Given the description of an element on the screen output the (x, y) to click on. 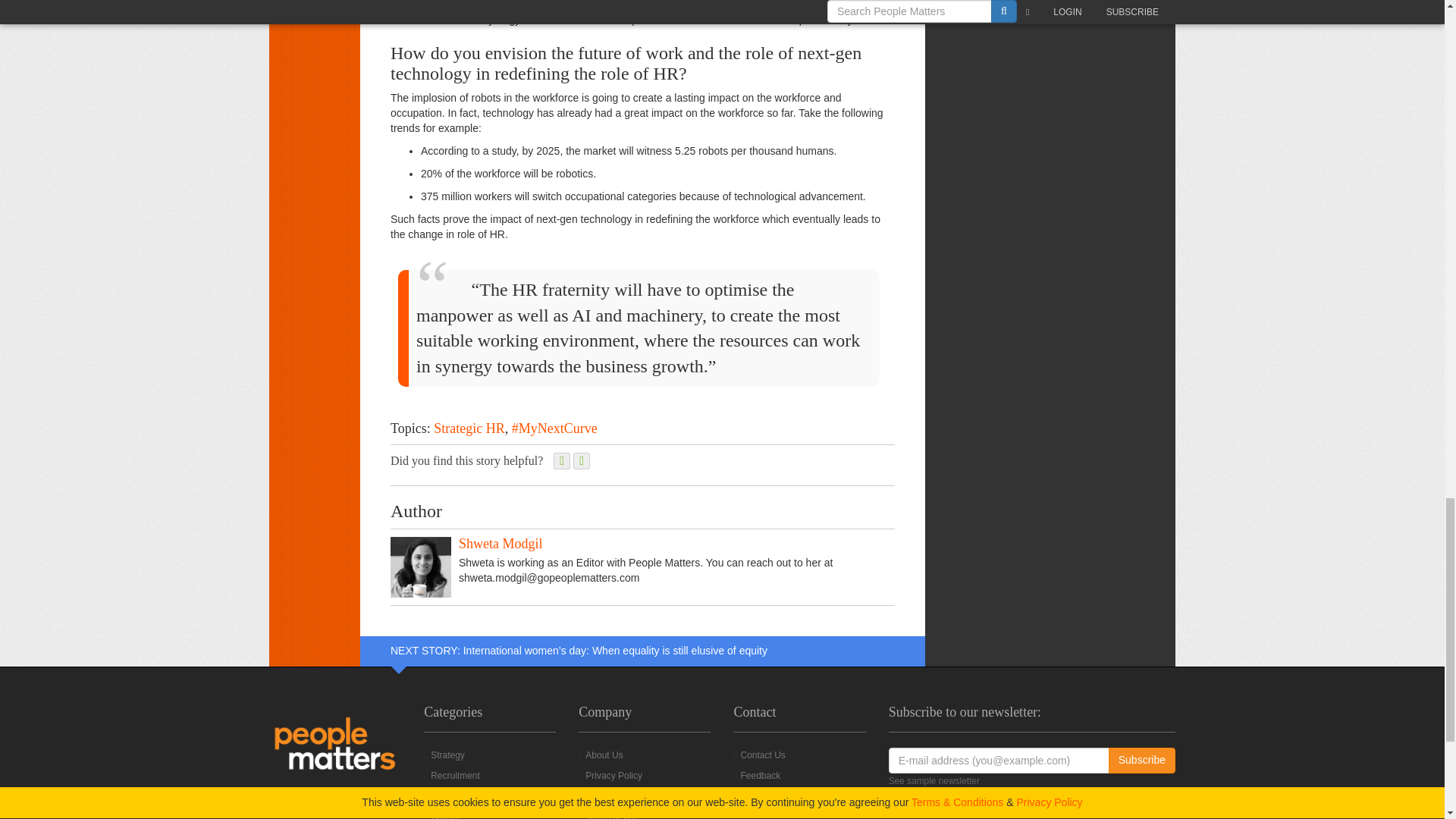
Browse more in: Strategic HR (468, 427)
Strategic HR (468, 427)
Browse more in: MyNextCurve (554, 427)
